Given the description of an element on the screen output the (x, y) to click on. 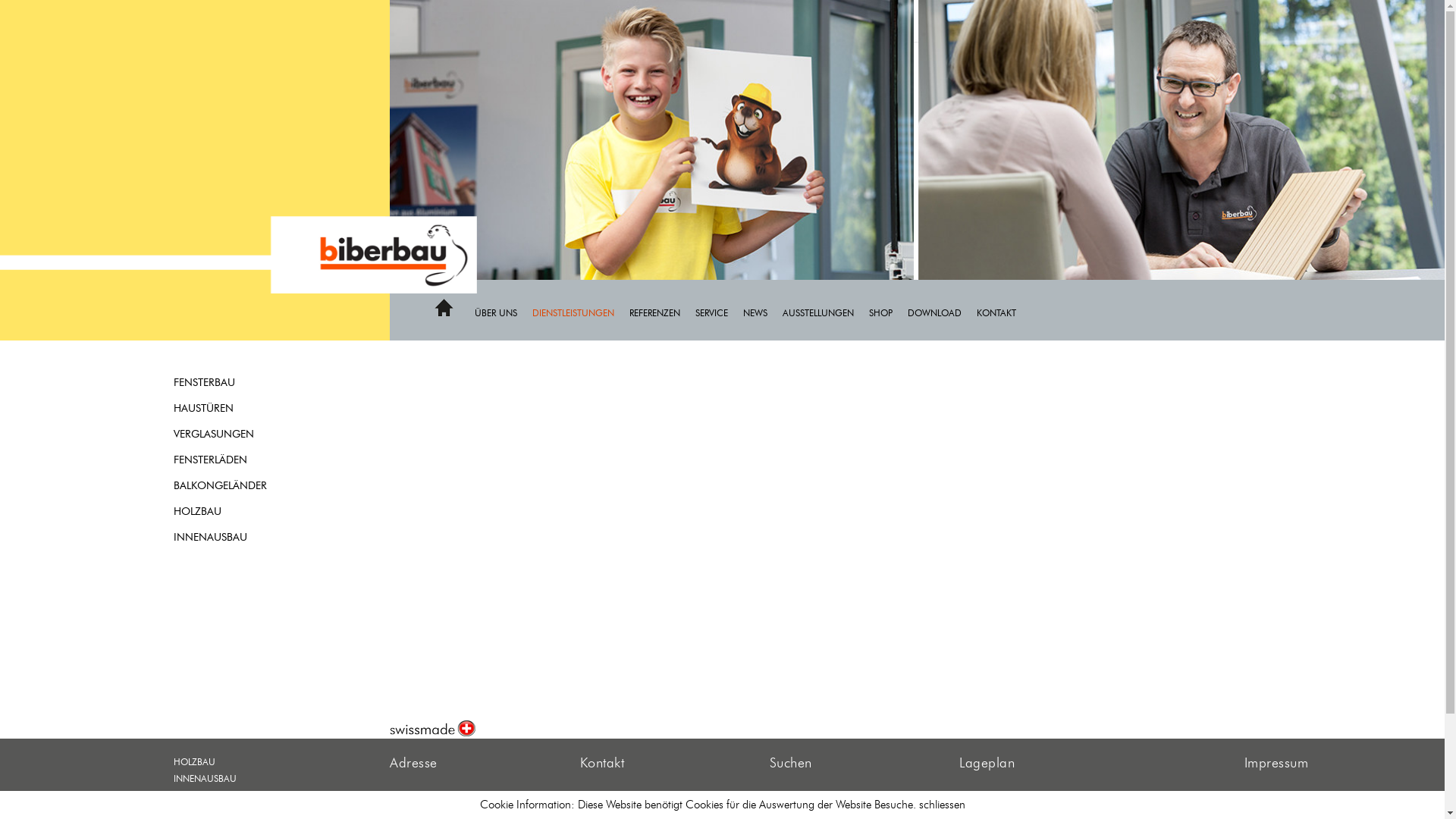
Impressum Element type: text (1276, 763)
Home Element type: hover (443, 307)
HOLZBAU Element type: text (241, 761)
AUSSTELLUNGEN Element type: text (825, 311)
FENSTERBAU Element type: text (241, 795)
Lageplan Element type: text (986, 763)
FENSTERBAU Element type: text (241, 382)
Home Element type: text (443, 313)
REFERENZEN Element type: text (662, 311)
DIENSTLEISTUNGEN Element type: text (580, 311)
VERGLASUNGEN Element type: text (241, 434)
SHOP Element type: text (888, 311)
SERVICE Element type: text (719, 311)
INNENAUSBAU Element type: text (241, 778)
DOWNLOAD Element type: text (941, 311)
NEWS Element type: text (762, 311)
INNENAUSBAU Element type: text (241, 537)
HOLZBAU Element type: text (241, 511)
KONTAKT Element type: text (1003, 311)
search_box Element type: hover (933, 805)
